Given the description of an element on the screen output the (x, y) to click on. 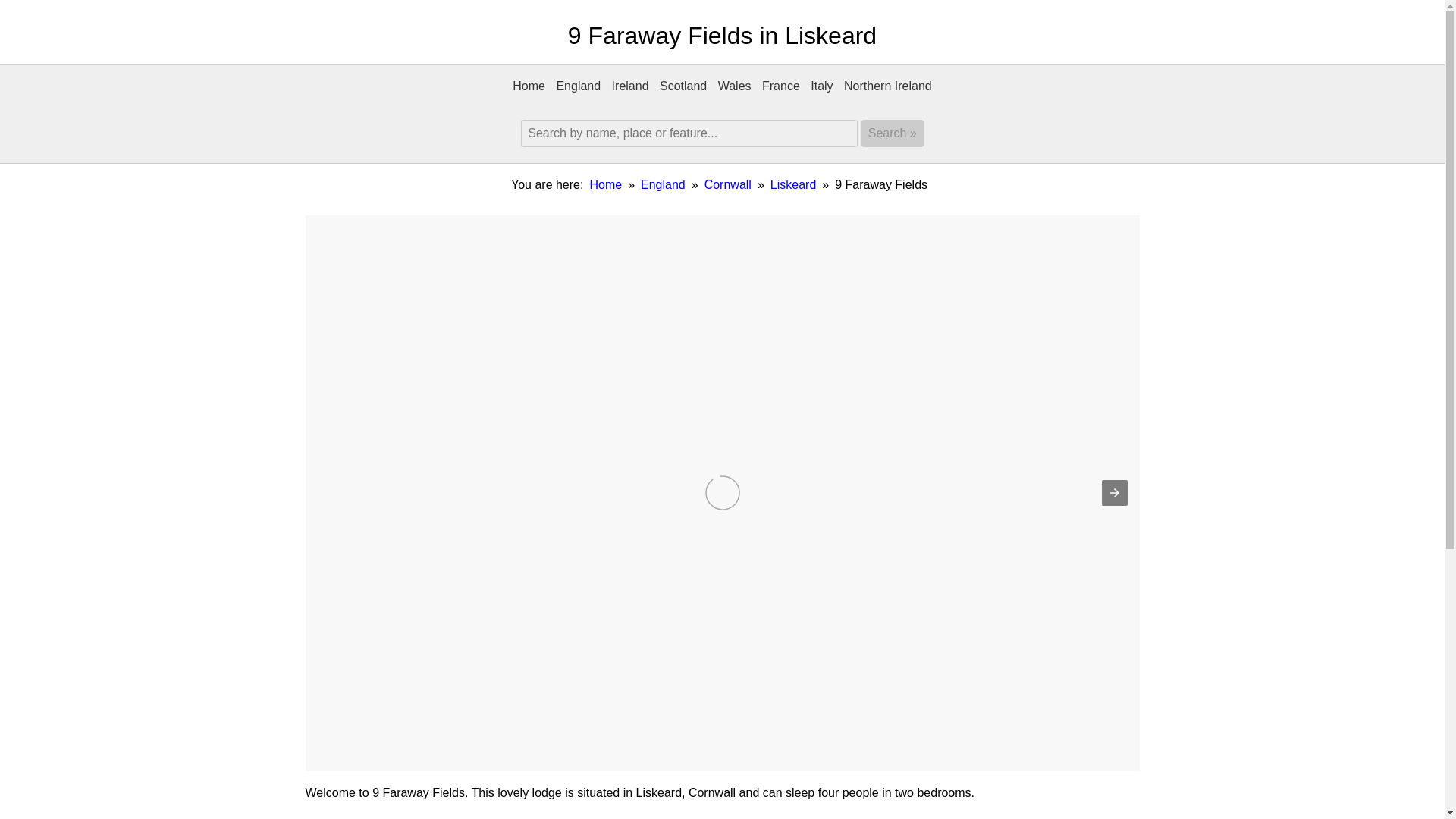
Home (528, 88)
Scotland (683, 88)
Wales (734, 88)
Cornwall (727, 187)
Home (605, 187)
Northern Ireland (888, 88)
Liskeard (792, 187)
Ireland (630, 88)
Italy (820, 88)
France (780, 88)
England (662, 187)
England (577, 88)
